Given the description of an element on the screen output the (x, y) to click on. 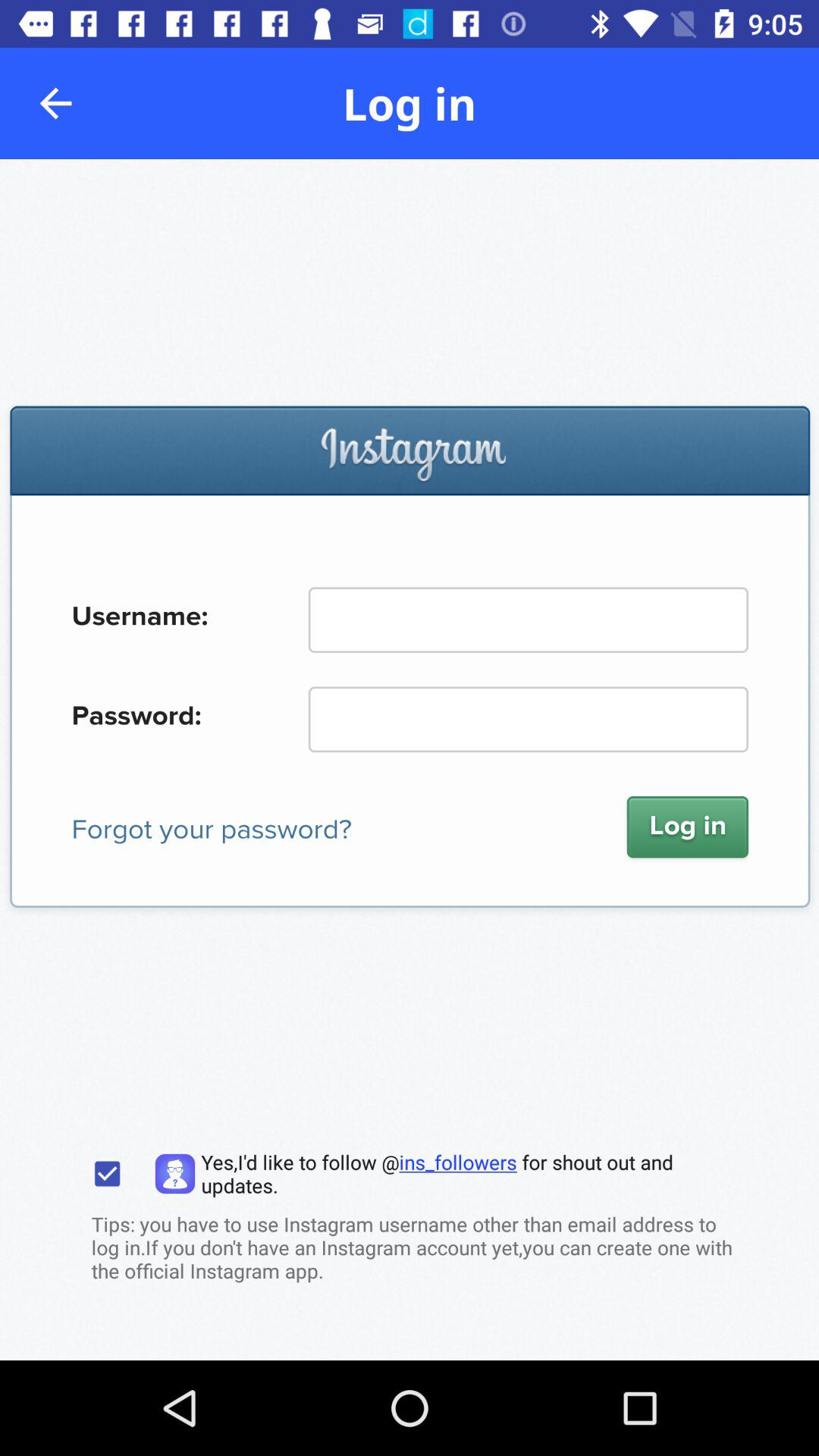
accept follow (107, 1173)
